Given the description of an element on the screen output the (x, y) to click on. 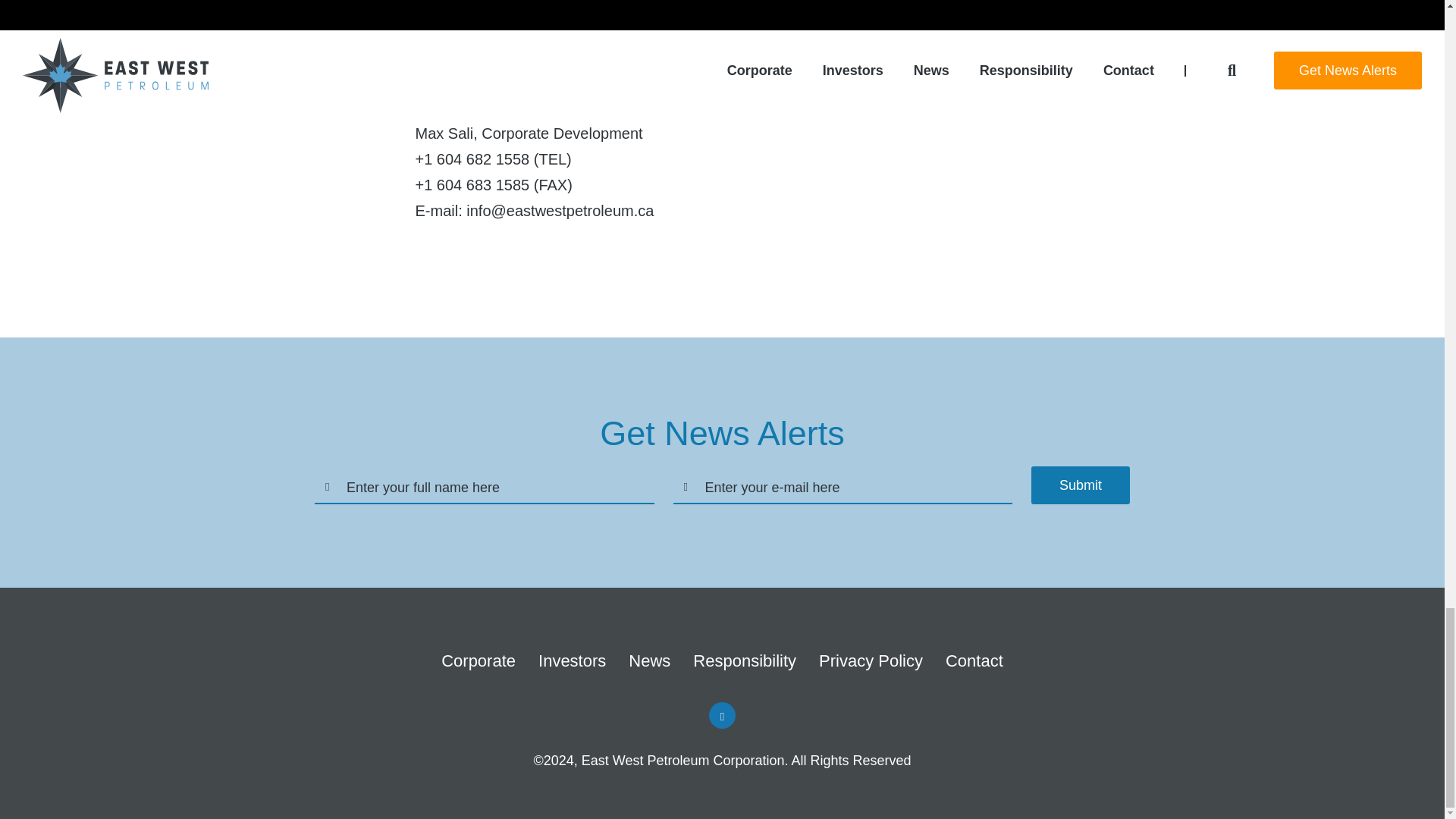
Investors (571, 660)
Submit (1079, 485)
Corporate (478, 660)
